Given the description of an element on the screen output the (x, y) to click on. 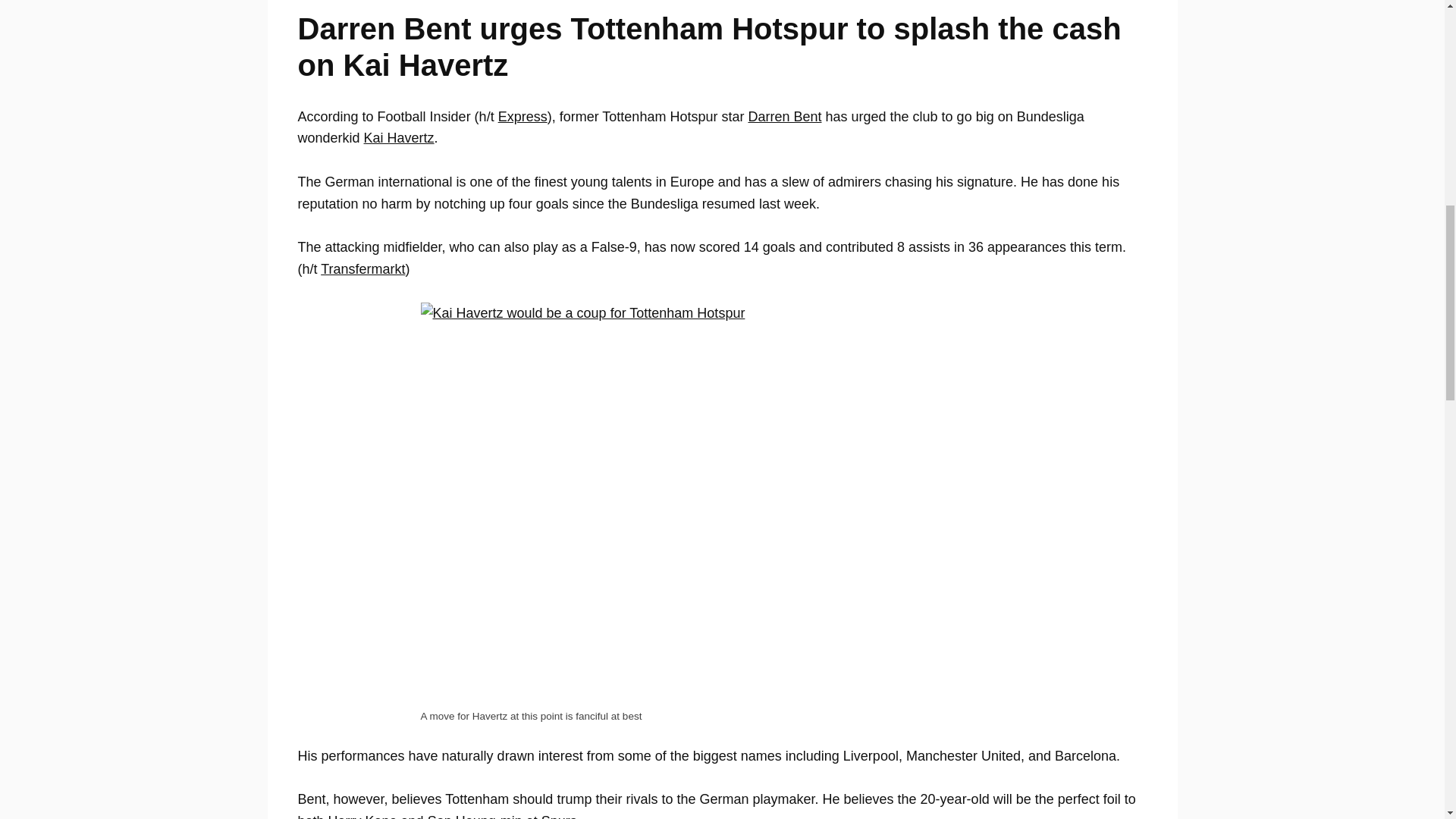
Darren Bent (784, 116)
Express (522, 116)
